Given the description of an element on the screen output the (x, y) to click on. 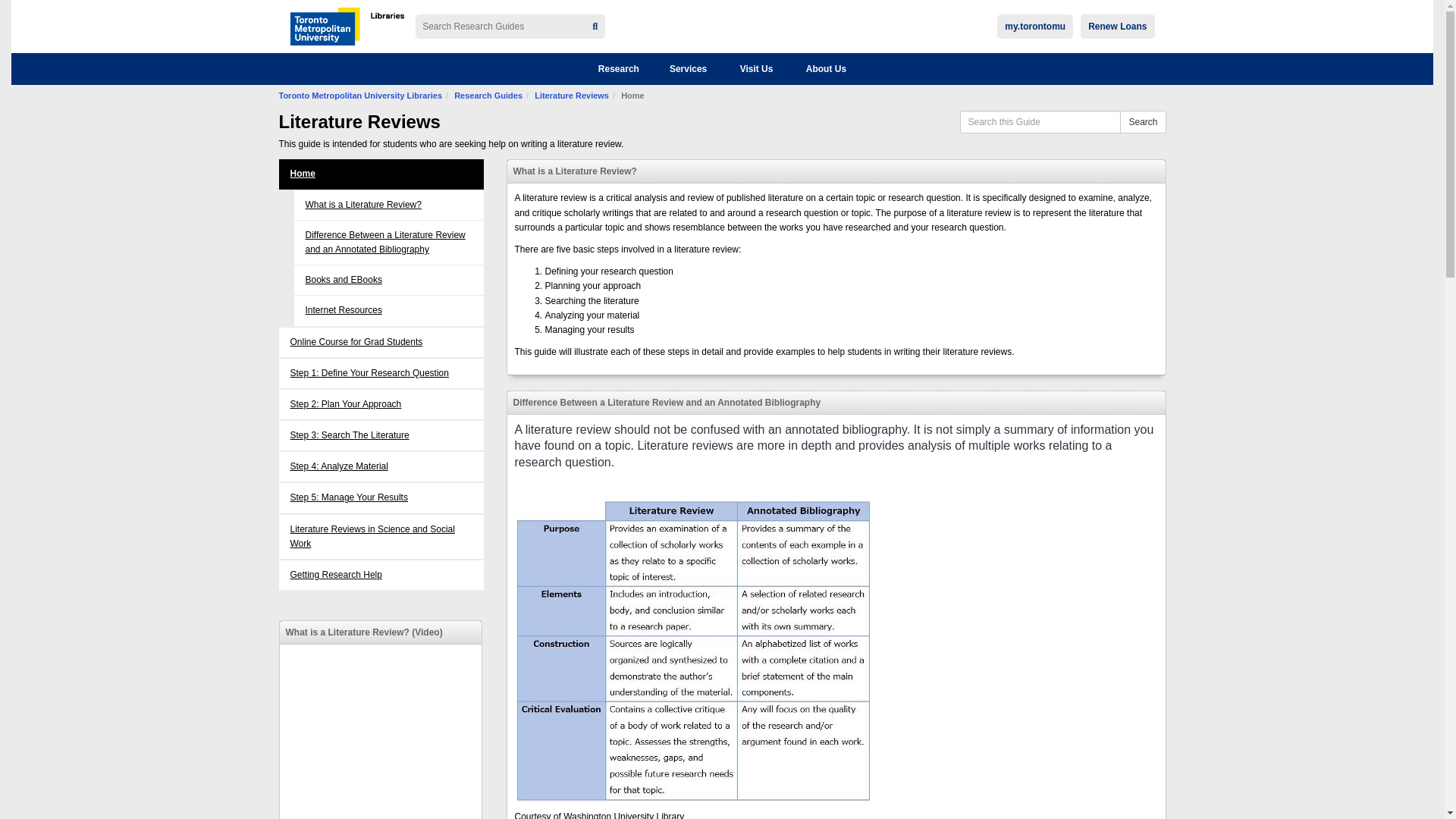
Toronto Metropolitan University Libraries (360, 94)
Step 2: Plan Your Approach (381, 404)
Visit Us (757, 69)
Internet Resources (342, 309)
About Us (825, 69)
Online Course for Grad Students (381, 342)
Search (1142, 121)
Step 3: Search The Literature (381, 435)
my.torontomu (1035, 26)
Books and EBooks (342, 279)
Renew Loans (1117, 26)
Research (618, 69)
Getting Research Help (381, 574)
Literature Reviews (571, 94)
